Given the description of an element on the screen output the (x, y) to click on. 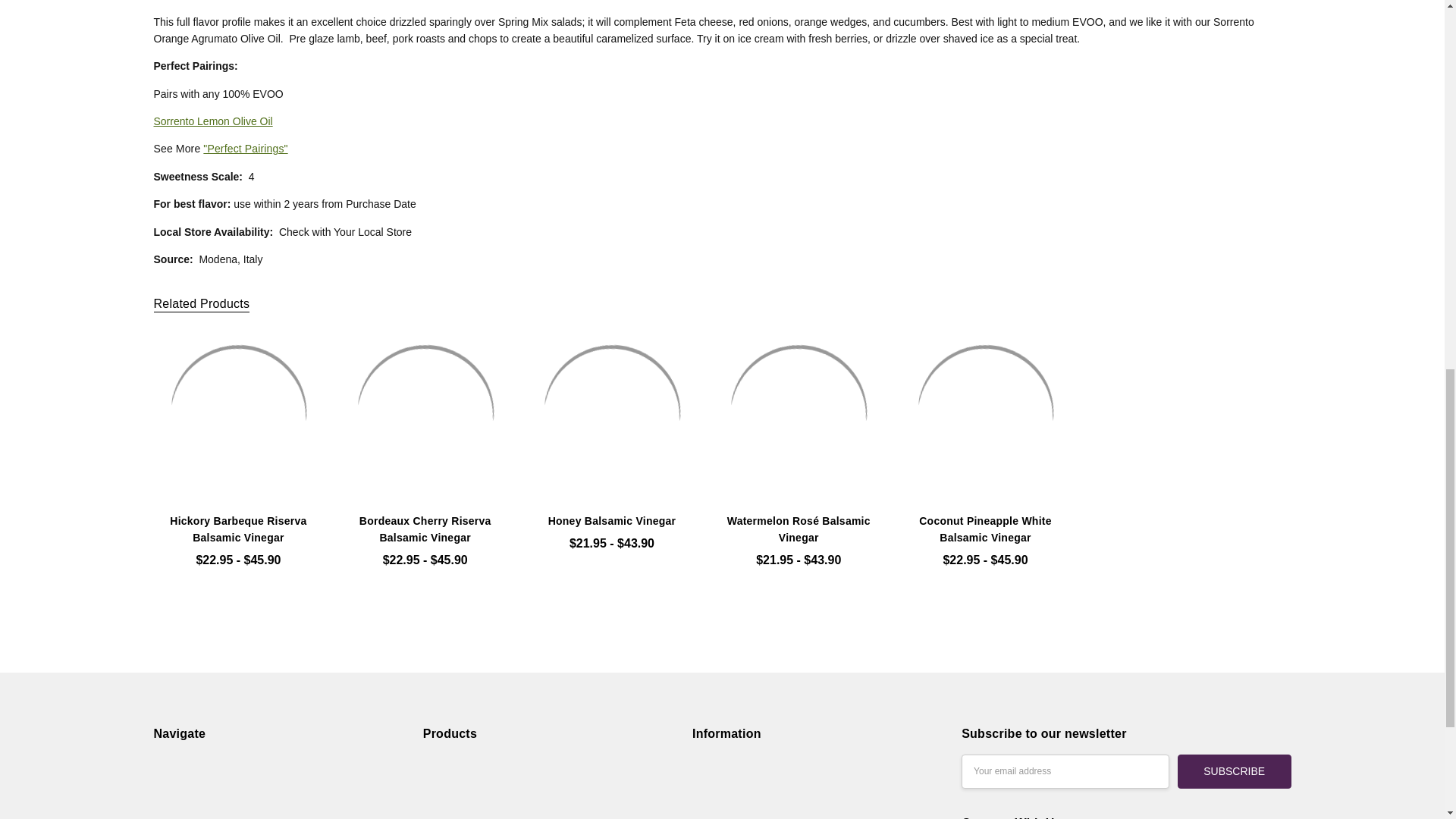
Subscribe (1234, 771)
Coconut Pineapple White Balsamic Vinegar from The Olive Tap (985, 414)
Honey Balsamic Vinegar from The Olive Tap (612, 414)
Bordeaux Cherry Balsamic Vinegar from The Olive Tap (425, 414)
Hickory Barbeque Riserva Balsamic Vinegar from The Olive Tap (237, 414)
Watermelon Rose Balsamic Vinegar from The Olive Tap (798, 414)
